Given the description of an element on the screen output the (x, y) to click on. 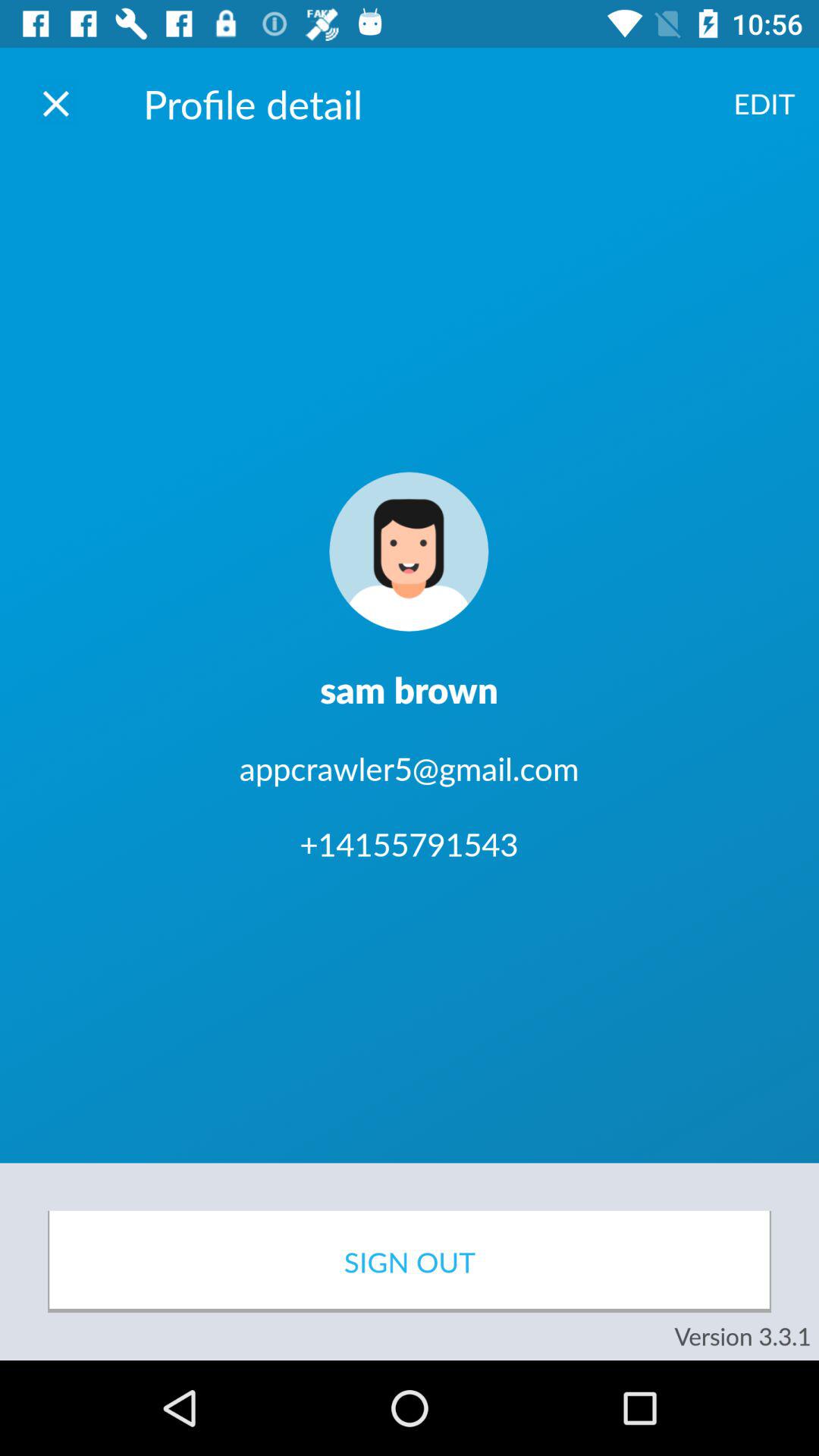
turn off icon below +14155791543 item (409, 1261)
